Given the description of an element on the screen output the (x, y) to click on. 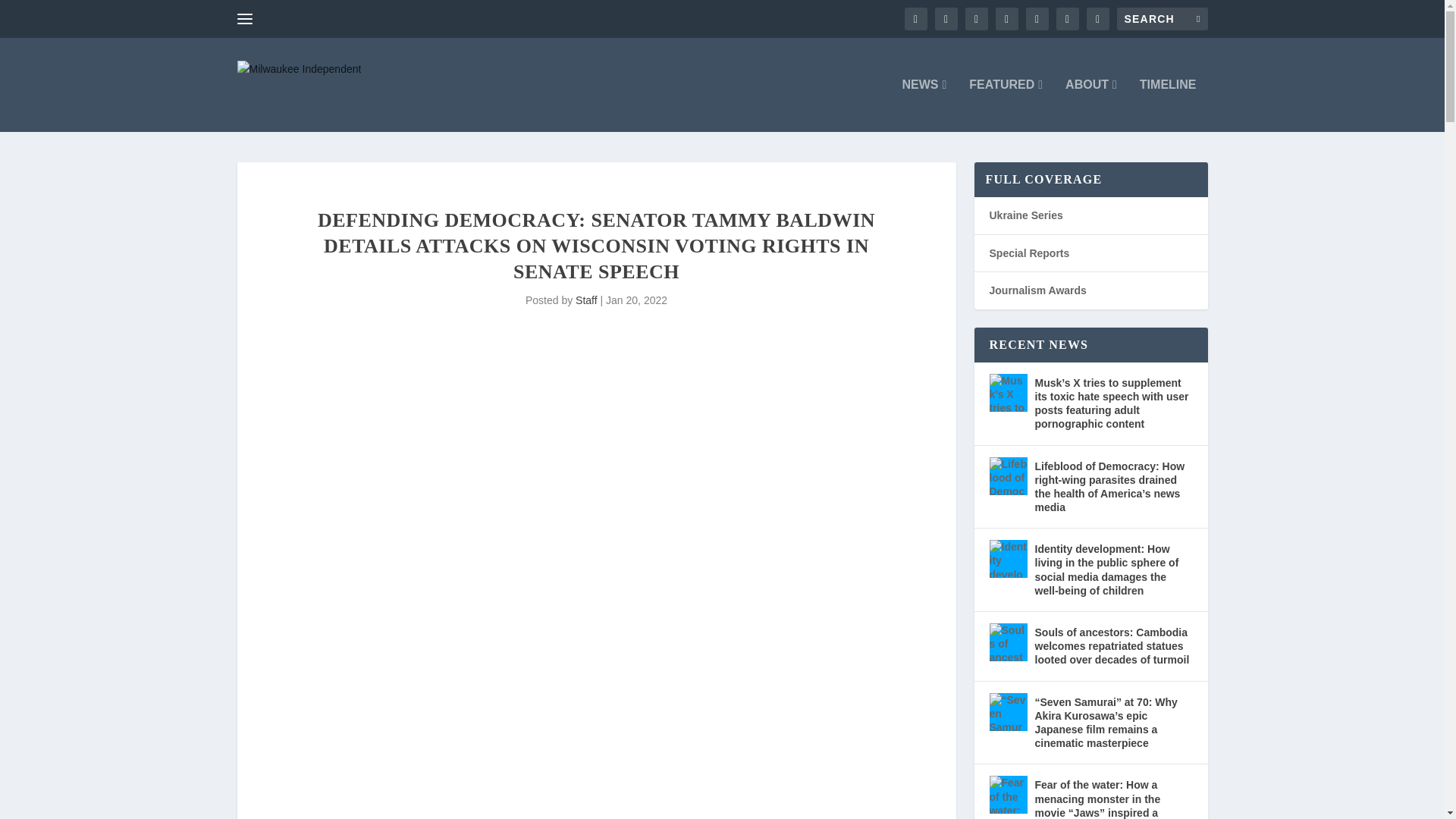
FEATURED (1005, 104)
ABOUT (1090, 104)
Posts by Staff (585, 300)
Staff (585, 300)
Search for: (1161, 18)
TIMELINE (1168, 104)
